Given the description of an element on the screen output the (x, y) to click on. 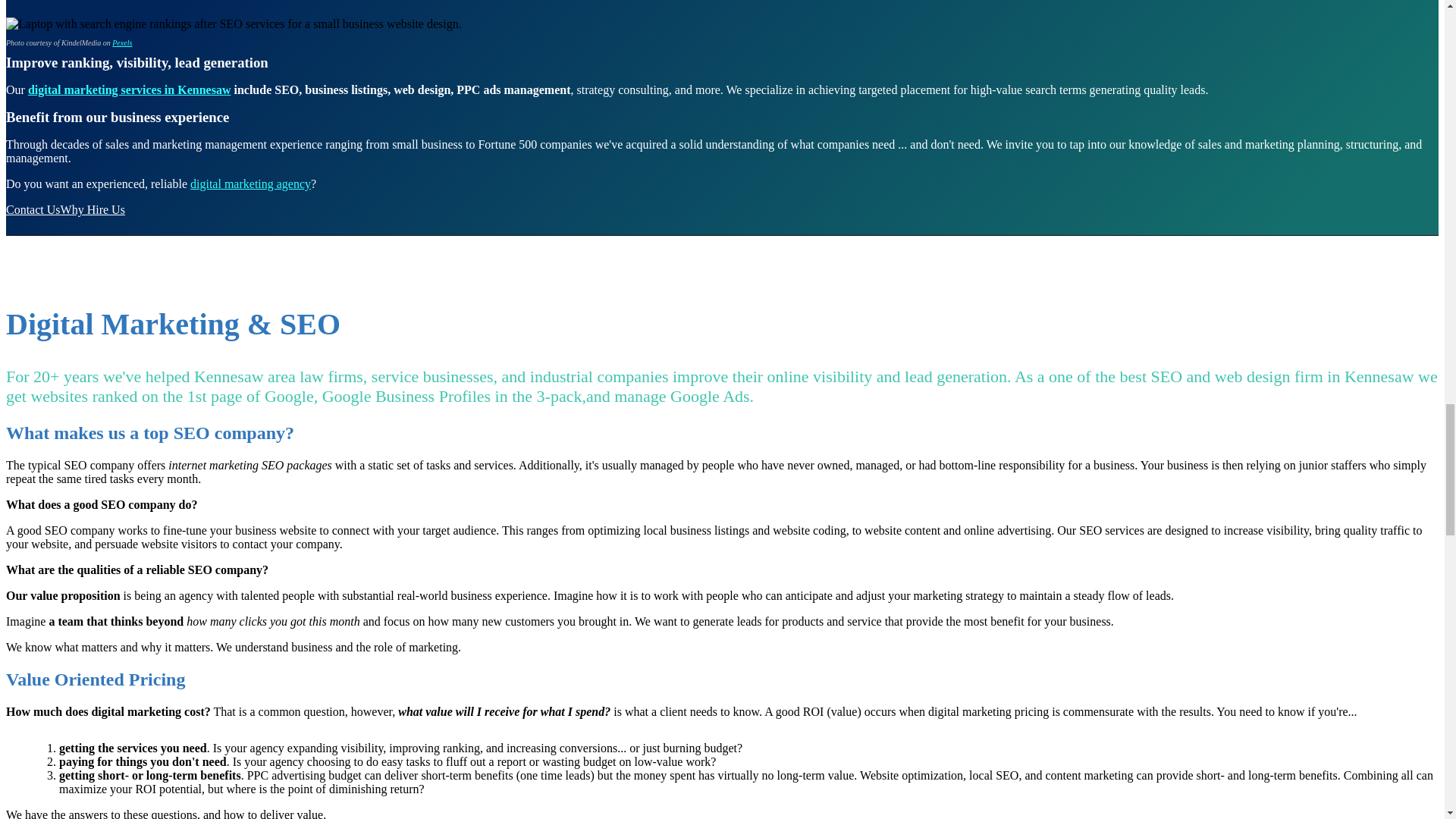
Why Hire Us (93, 209)
digital marketing services in Kennesaw (129, 89)
digital marketing agency (250, 183)
Pixabay (122, 42)
Contact Us (33, 209)
Explore our digital marketing services (129, 89)
Pexels (122, 42)
